Given the description of an element on the screen output the (x, y) to click on. 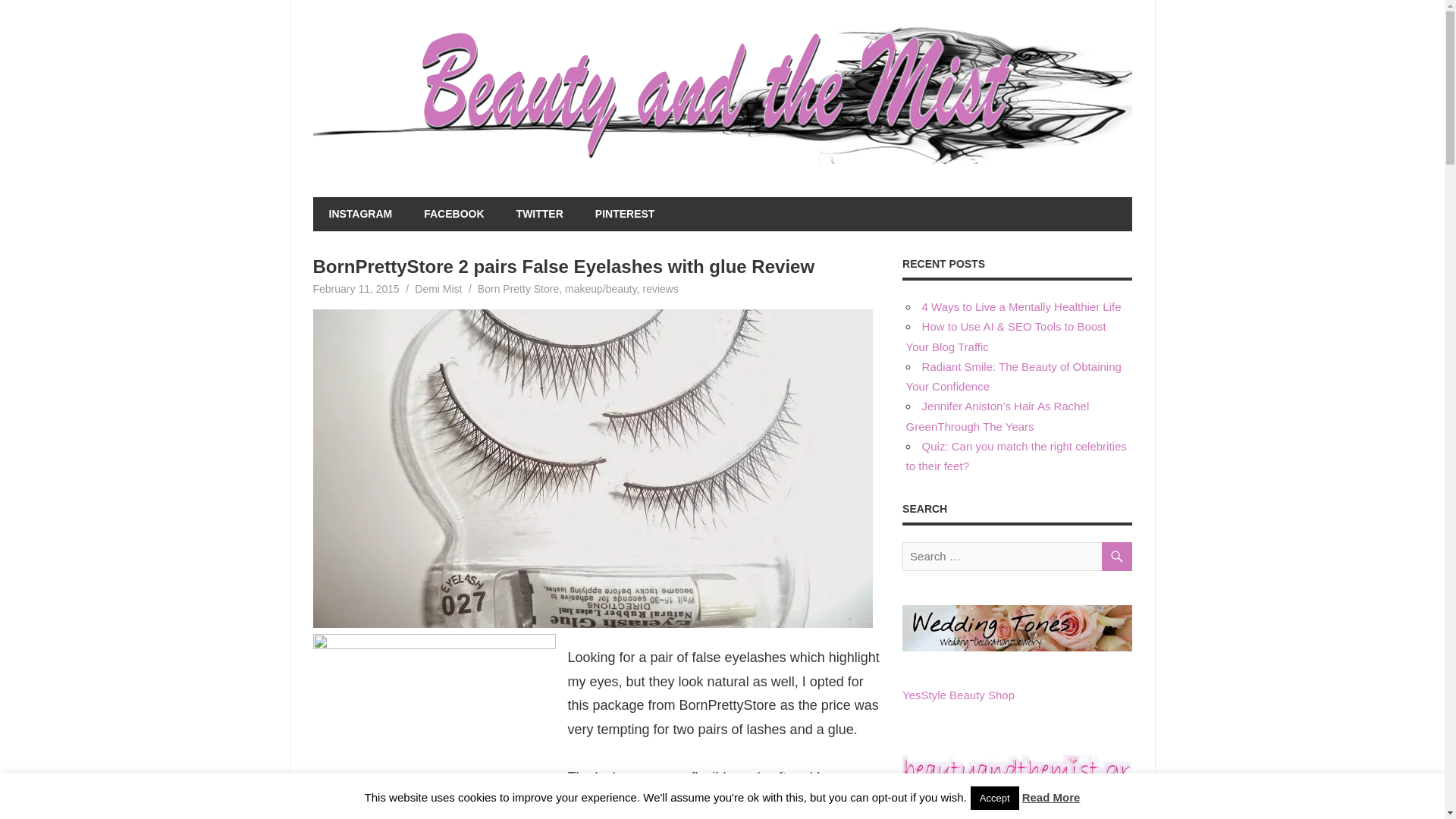
TWITTER (539, 214)
Radiant Smile: The Beauty of Obtaining Your Confidence (1013, 376)
INSTAGRAM (360, 214)
reviews (660, 288)
PINTEREST (625, 214)
Demi Mist (437, 288)
February 11, 2015 (355, 288)
FACEBOOK (453, 214)
View all posts by Demi Mist (437, 288)
11:05 am (355, 288)
